Given the description of an element on the screen output the (x, y) to click on. 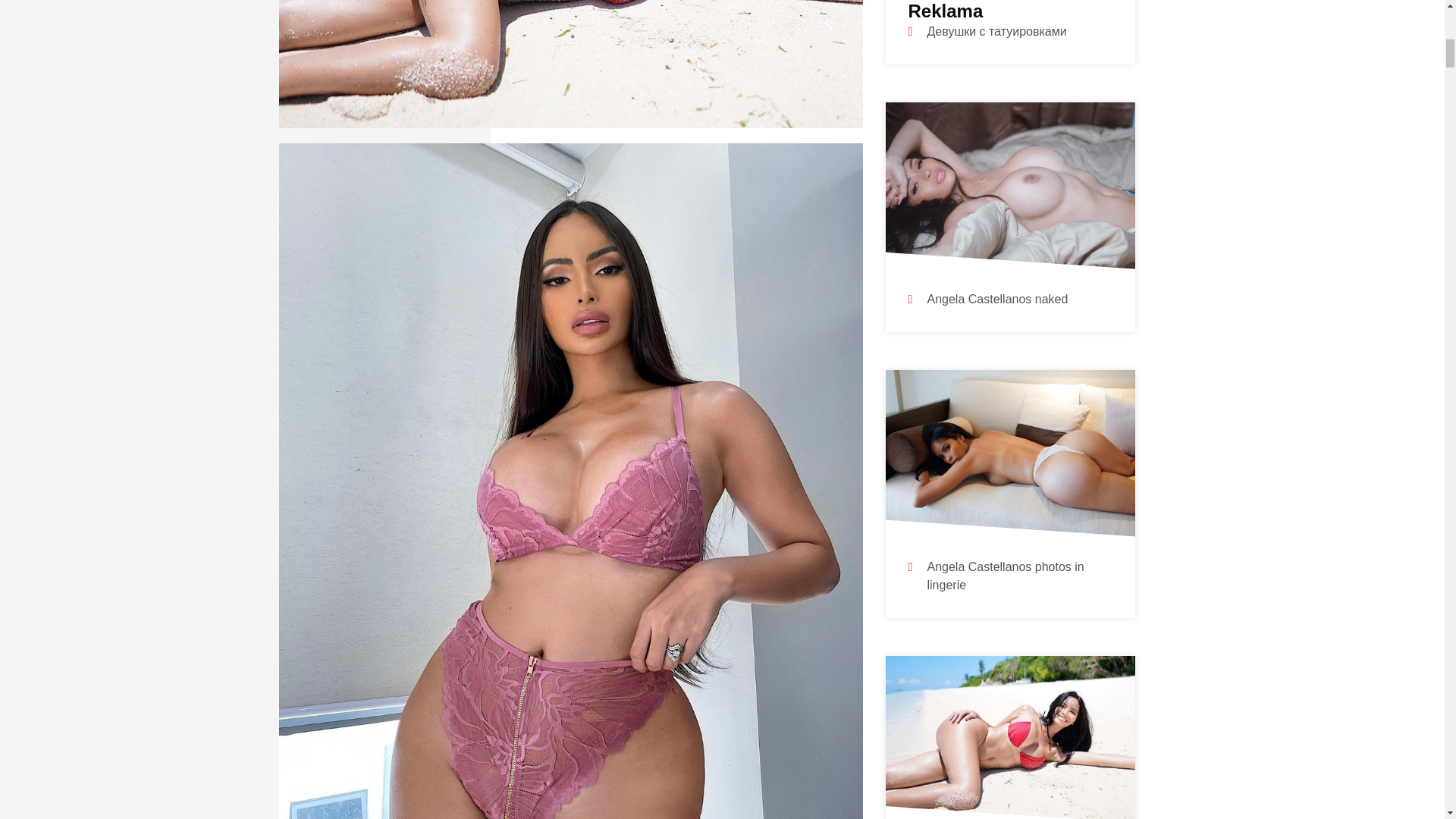
Angela Castellanos photos in lingerie  (1004, 576)
Angela Castellanos naked  (996, 298)
